Given the description of an element on the screen output the (x, y) to click on. 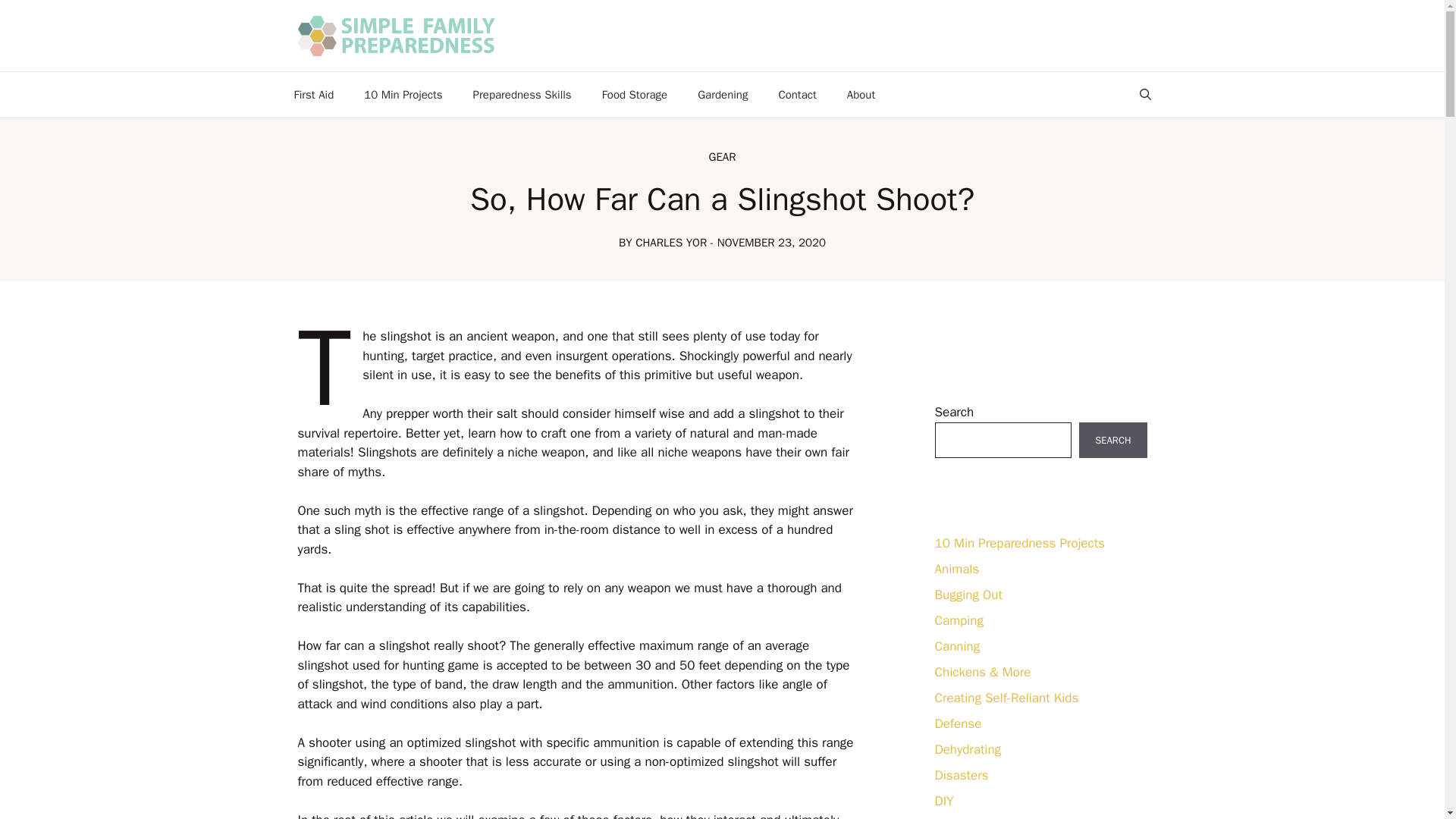
About (860, 94)
Contact (796, 94)
GEAR (722, 156)
Food Storage (634, 94)
CHARLES YOR (670, 242)
Preparedness Skills (522, 94)
Gardening (722, 94)
View all posts by Charles Yor (670, 242)
First Aid (314, 94)
10 Min Projects (403, 94)
